Given the description of an element on the screen output the (x, y) to click on. 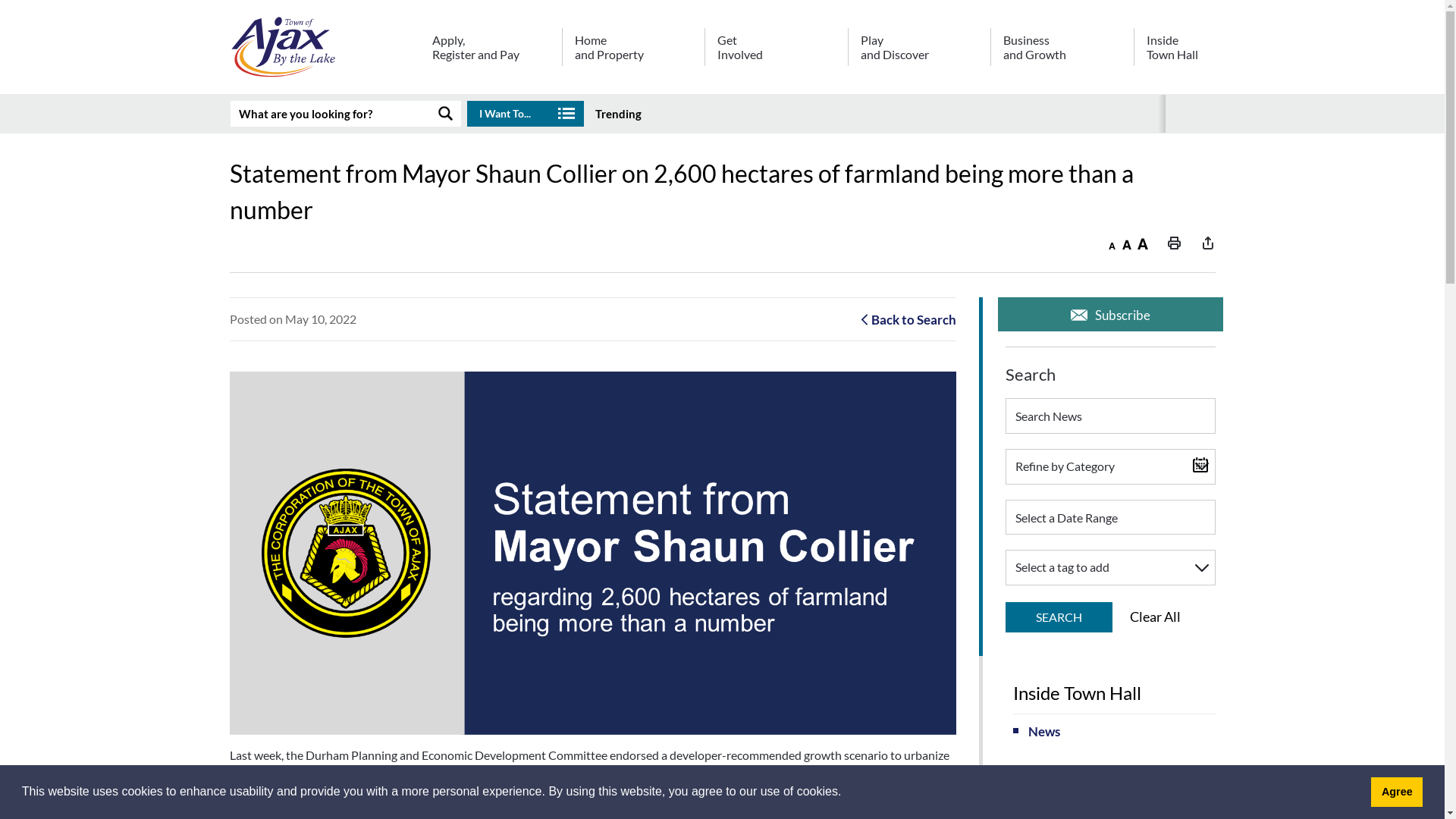
About Ajax Element type: text (1114, 785)
News Element type: text (1114, 731)
Search Element type: text (1055, 466)
Enter search keyword Element type: hover (1109, 415)
SEARCH Element type: text (445, 113)
Increase text size Element type: hover (1142, 243)
Agree Element type: text (1396, 791)
Business
and Growth Element type: text (1061, 51)
Play
and Discover Element type: text (918, 51)
Home
and Property Element type: text (632, 51)
Click to return to the homepage Element type: hover (285, 46)
Print Element type: text (1173, 243)
Town of Ajax Element type: hover (592, 552)
View our Homepage Element type: hover (285, 49)
Share Element type: text (1206, 243)
SEARCH Element type: text (1058, 617)
Back to Search Element type: text (908, 319)
Decrease text size Element type: hover (1112, 243)
Inside
Town Hall Element type: text (1173, 51)
Select a Date Range Element type: hover (1110, 517)
Search Element type: text (1055, 210)
Enter search keywords Element type: hover (330, 113)
Clear All Element type: text (1154, 616)
Get
Involved Element type: text (775, 51)
I Want To... Element type: text (525, 113)
Skip to Content Element type: text (0, 0)
Apply,
Register and Pay Element type: text (489, 51)
Subscribe Element type: text (1110, 314)
Default text size Element type: hover (1126, 243)
